Given the description of an element on the screen output the (x, y) to click on. 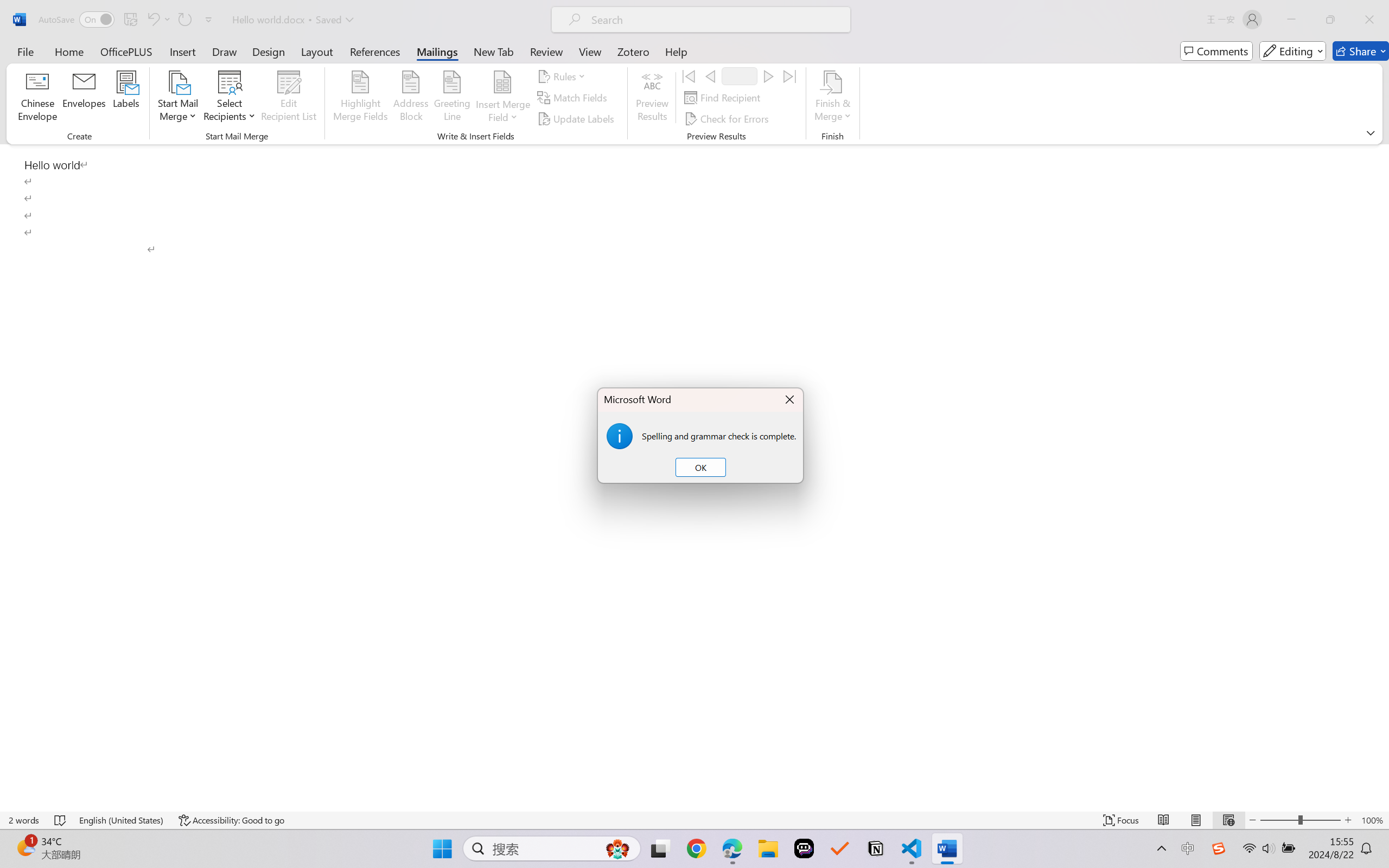
Google Chrome (696, 848)
Highlight Merge Fields (360, 97)
Finish & Merge (832, 97)
Update Labels (576, 118)
Match Fields... (573, 97)
